Given the description of an element on the screen output the (x, y) to click on. 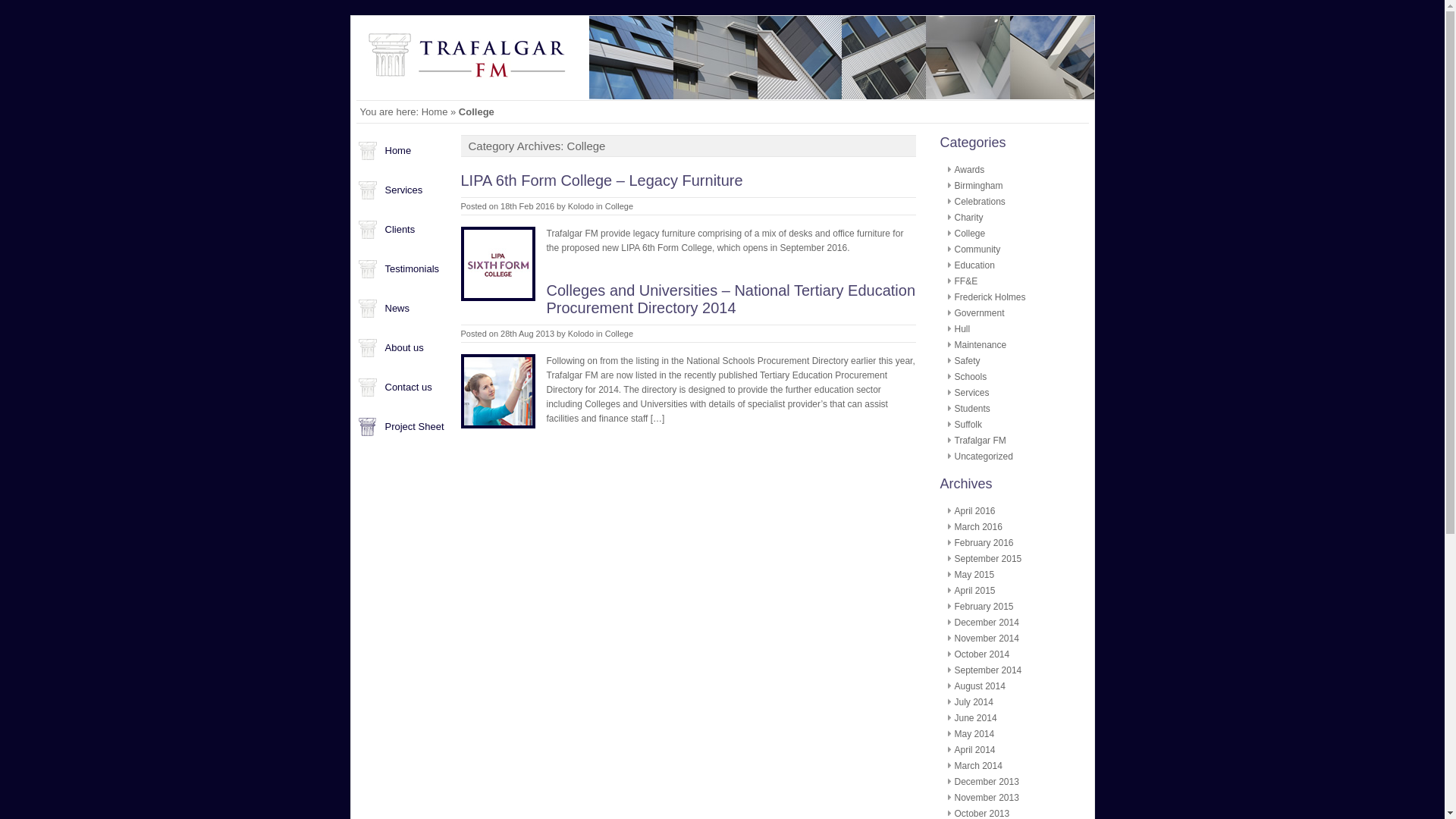
March 2016 (977, 526)
Home (435, 111)
Services (404, 189)
Services (970, 392)
Safety (966, 360)
Students (971, 408)
College (969, 233)
September 2015 (987, 558)
Suffolk (967, 424)
Community (976, 249)
Project Sheet (414, 426)
Hull (961, 328)
Frederick Holmes (989, 296)
May 2015 (973, 574)
About us (404, 347)
